Given the description of an element on the screen output the (x, y) to click on. 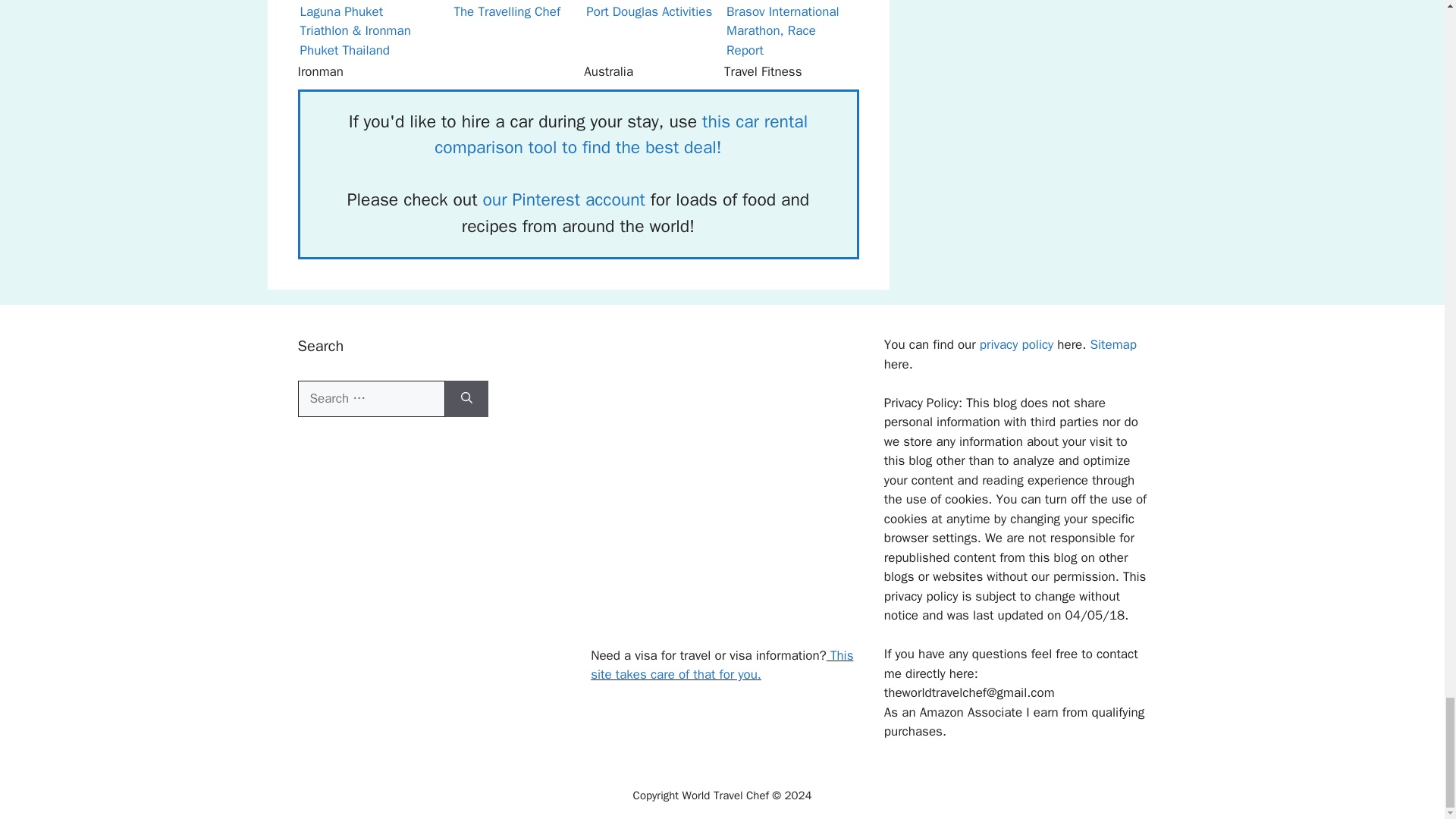
Port Douglas Activities (649, 1)
The Travelling Chef (506, 1)
Brasov International Marathon, Race Report (791, 1)
Search for: (370, 398)
